Given the description of an element on the screen output the (x, y) to click on. 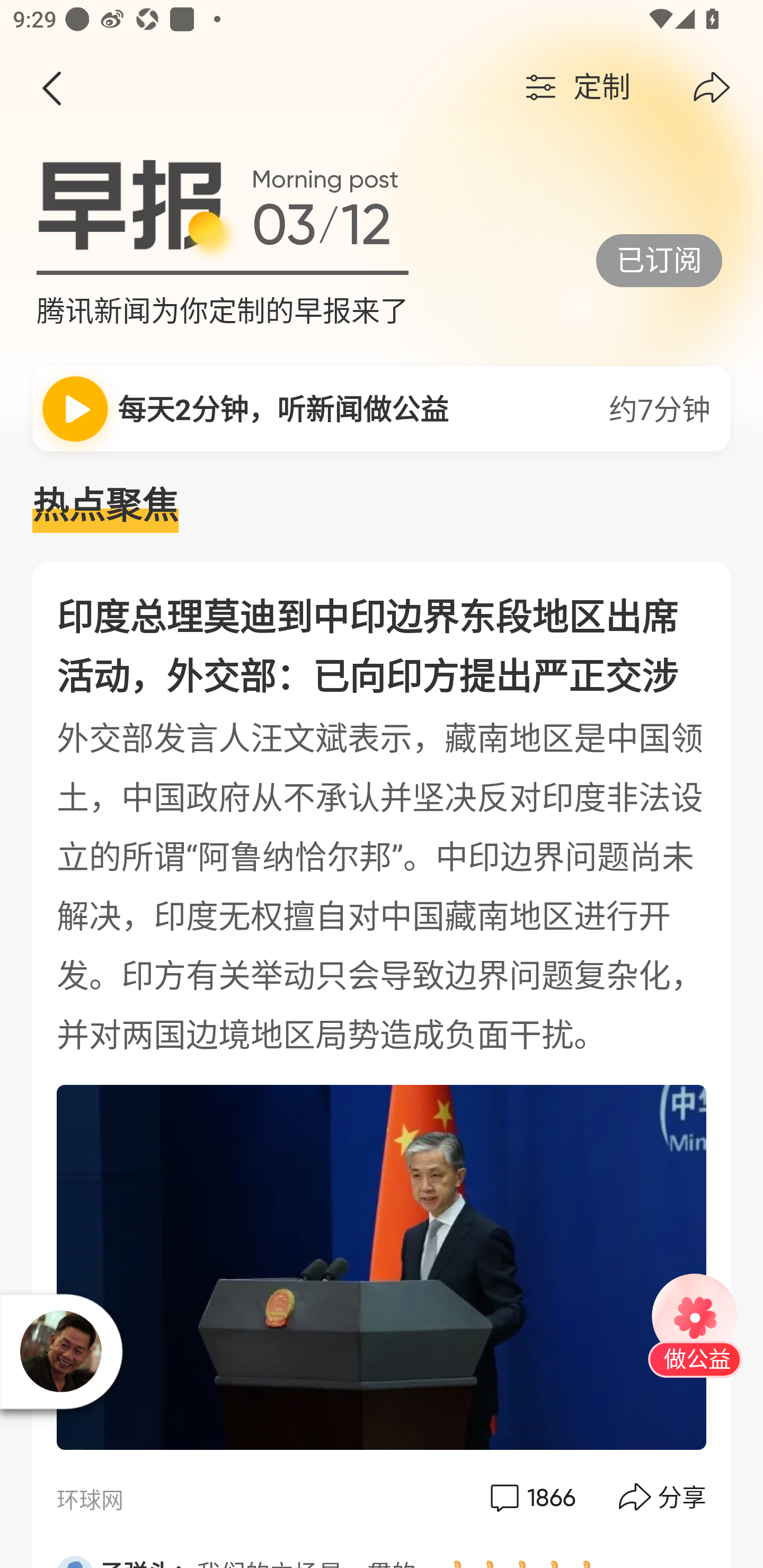
 (50, 87)
 定制 (575, 87)
 (711, 87)
已订阅 (658, 259)
 每天2分钟，听新闻做公益 约7分钟 (381, 407)
热点聚焦 (381, 506)
播放器 (60, 1351)
评论  1866 (531, 1497)
 分享 (663, 1497)
